Given the description of an element on the screen output the (x, y) to click on. 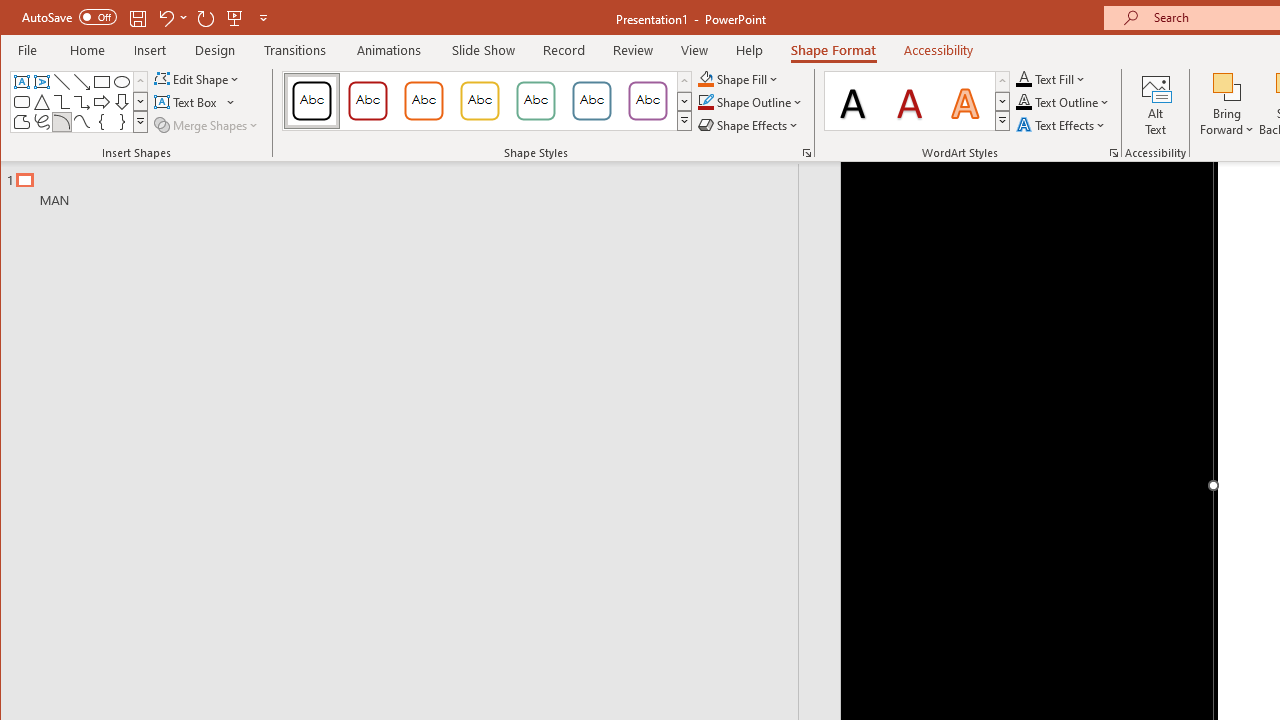
Quick Access Toolbar (146, 17)
Animations (388, 50)
View (694, 50)
Text Box (195, 101)
Colored Outline - Blue-Gray, Accent 5 (591, 100)
Edit Shape (198, 78)
